Given the description of an element on the screen output the (x, y) to click on. 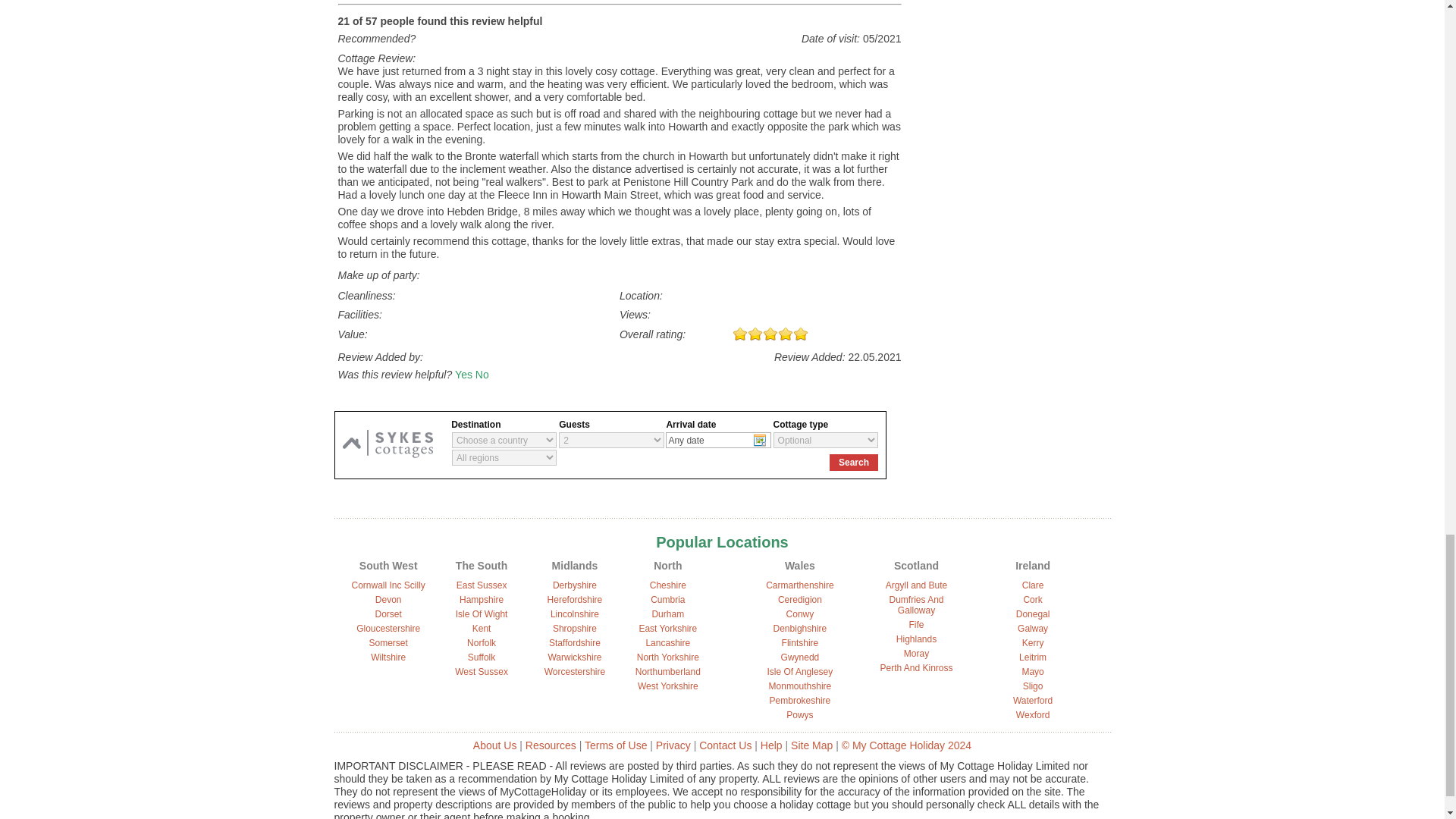
Yes (462, 374)
No (482, 374)
